Given the description of an element on the screen output the (x, y) to click on. 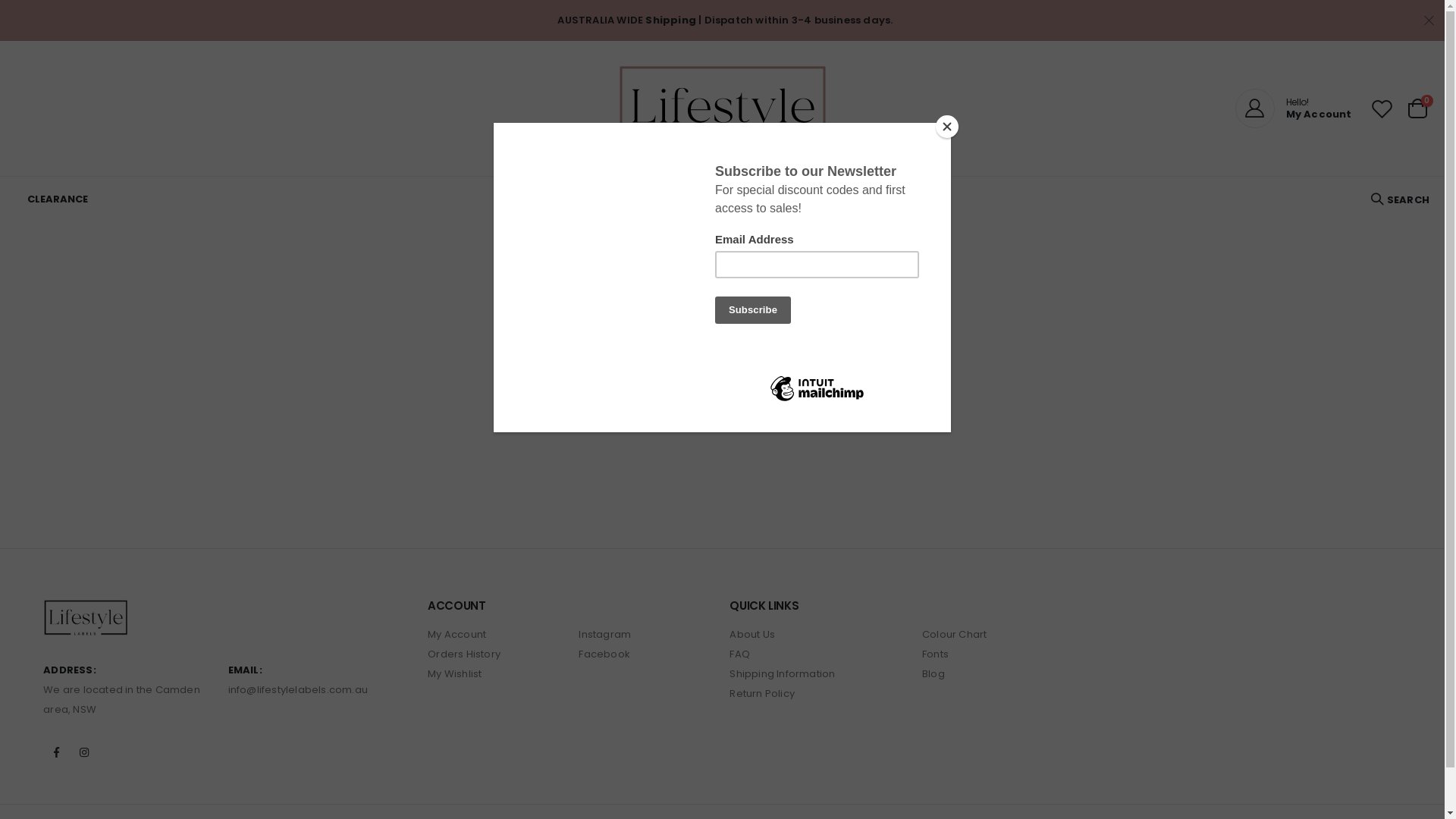
Colour Chart Element type: text (954, 634)
My Account Element type: text (456, 634)
SHOP HOME Element type: text (587, 199)
Fonts Element type: text (935, 653)
Facebook Element type: text (55, 751)
Shipping Information Element type: text (781, 673)
homepage. Element type: text (897, 367)
Instagram Element type: text (83, 751)
COLOUR CHART Element type: text (844, 199)
Lifestyle Labels Element type: hover (722, 108)
Instagram Element type: text (604, 634)
About Us Element type: text (752, 634)
Cart
0
items Element type: text (1417, 108)
Hello!
My Account Element type: text (1293, 108)
SHOP BUSINESS Element type: text (690, 199)
SEARCH Element type: text (1399, 199)
FAQ Element type: text (767, 199)
FONTS Element type: text (929, 199)
FAQ Element type: text (739, 653)
Blog Element type: text (933, 673)
CLEARANCE Element type: text (57, 199)
info@lifestylelabels.com.au Element type: text (297, 689)
Return Policy Element type: text (761, 693)
HOME Element type: text (511, 199)
Facebook Element type: text (604, 653)
Wishlist Element type: hover (1382, 108)
My Wishlist Element type: text (454, 673)
Orders History Element type: text (463, 653)
